Given the description of an element on the screen output the (x, y) to click on. 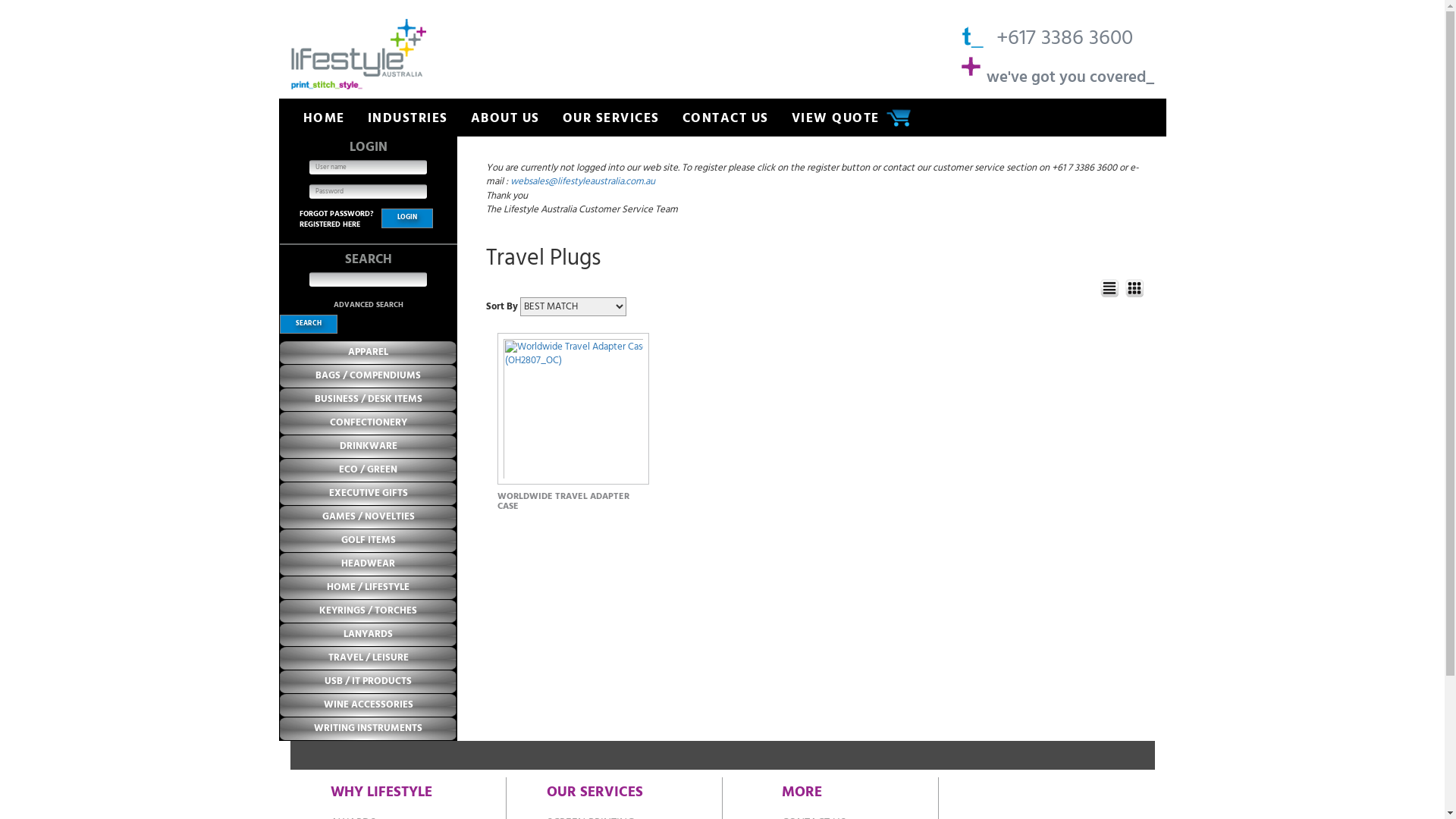
WINE ACCESSORIES Element type: text (367, 704)
LANYARDS Element type: text (367, 634)
BAGS / COMPENDIUMS Element type: text (367, 375)
ADVANCED SEARCH Element type: text (368, 304)
REGISTERED HERE Element type: text (328, 224)
WRITING INSTRUMENTS Element type: text (367, 728)
GOLF ITEMS Element type: text (368, 540)
DRINKWARE Element type: text (368, 446)
EXECUTIVE GIFTS Element type: text (368, 493)
VIEW QUOTE Element type: text (835, 118)
websales@lifestyleaustralia.com.au Element type: text (582, 181)
KEYRINGS / TORCHES Element type: text (368, 610)
BUSINESS / DESK ITEMS Element type: text (367, 399)
ABOUT US Element type: text (504, 118)
USB / IT PRODUCTS Element type: text (367, 681)
GAMES / NOVELTIES Element type: text (367, 516)
Search Element type: text (307, 324)
ECO / GREEN Element type: text (367, 469)
Login Element type: text (406, 218)
HEADWEAR Element type: text (368, 563)
Detailed View Element type: hover (1108, 288)
Thumb View Element type: hover (1134, 288)
FORGOT PASSWORD? Element type: text (335, 213)
HOME / LIFESTYLE Element type: text (367, 587)
WORLDWIDE TRAVEL ADAPTER CASE Element type: text (563, 500)
OUR SERVICES Element type: text (611, 118)
CONTACT US Element type: text (725, 118)
Worldwide Travel Adapter Case (OH2807_OC) Element type: hover (573, 407)
APPAREL Element type: text (368, 352)
TRAVEL / LEISURE Element type: text (367, 657)
HOME Element type: text (323, 118)
INDUSTRIES Element type: text (407, 118)
CONFECTIONERY Element type: text (367, 422)
